Given the description of an element on the screen output the (x, y) to click on. 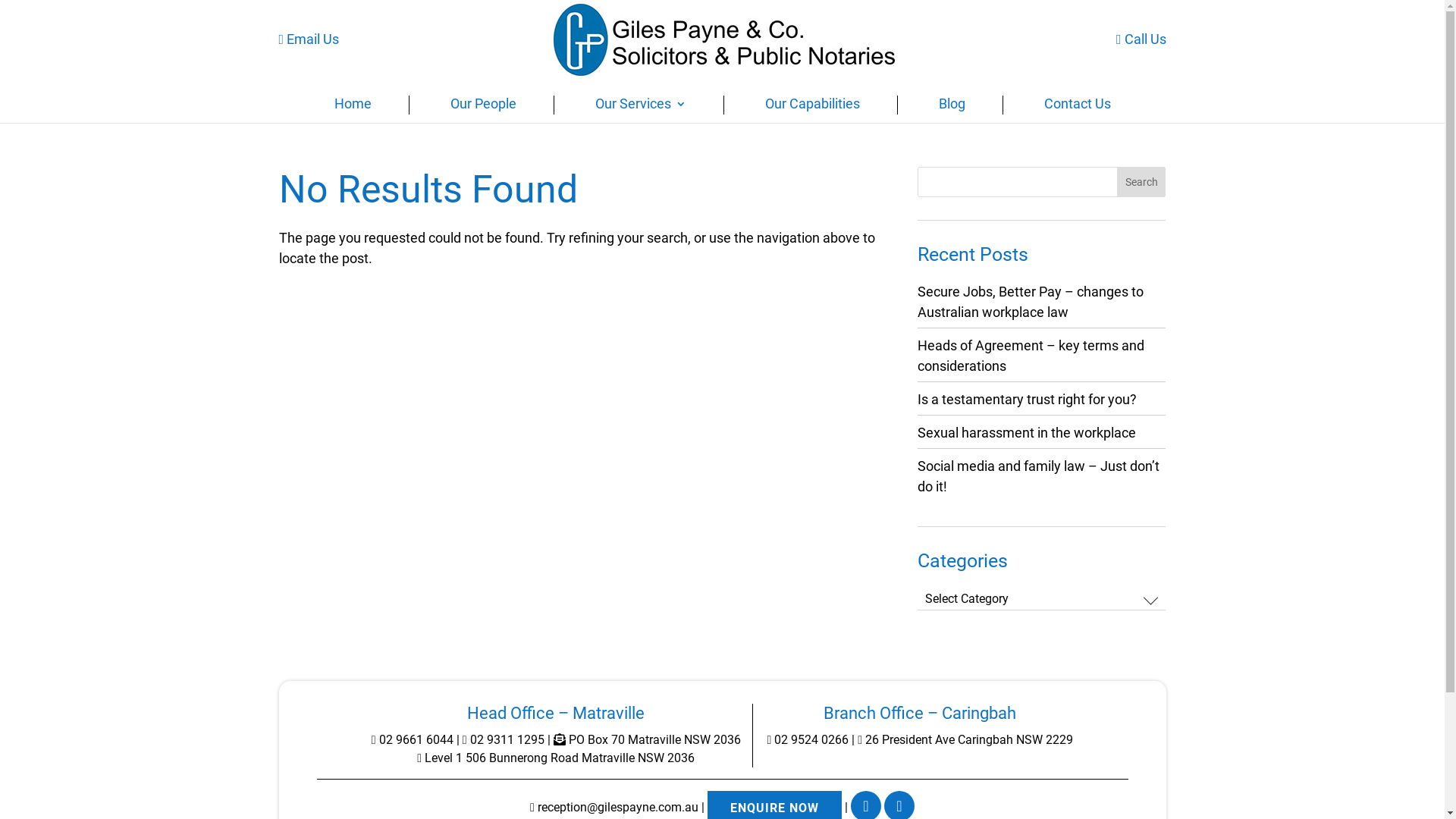
Email Us Element type: text (309, 39)
Search Element type: text (1141, 181)
Blog Element type: text (951, 107)
02 9524 0266 Element type: text (808, 740)
Is a testamentary trust right for you? Element type: text (1026, 399)
Home Element type: text (351, 107)
Our People Element type: text (483, 107)
02 9661 6044 Element type: text (412, 740)
Our Services Element type: text (639, 107)
reception@gilespayne.com.au Element type: text (614, 807)
Sexual harassment in the workplace Element type: text (1026, 432)
Contact Us Element type: text (1076, 107)
Call Us Element type: text (1141, 38)
Our Capabilities Element type: text (811, 107)
